Given the description of an element on the screen output the (x, y) to click on. 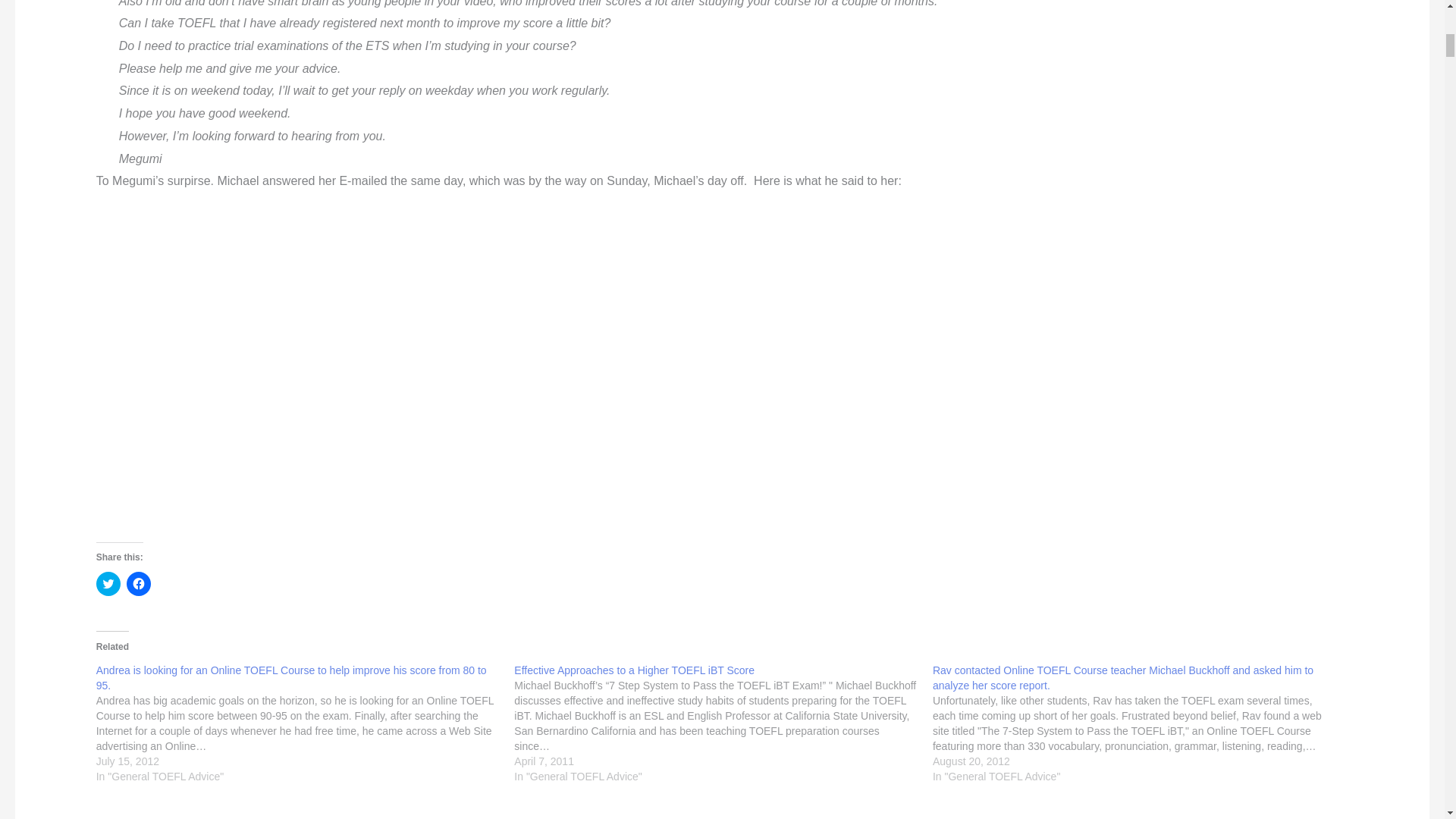
Effective Approaches to a Higher TOEFL iBT Score (633, 670)
Click to share on Facebook (138, 583)
Effective Approaches to a Higher TOEFL iBT Score (723, 722)
Click to share on Twitter (108, 583)
Effective Approaches to a Higher TOEFL iBT Score (633, 670)
